Given the description of an element on the screen output the (x, y) to click on. 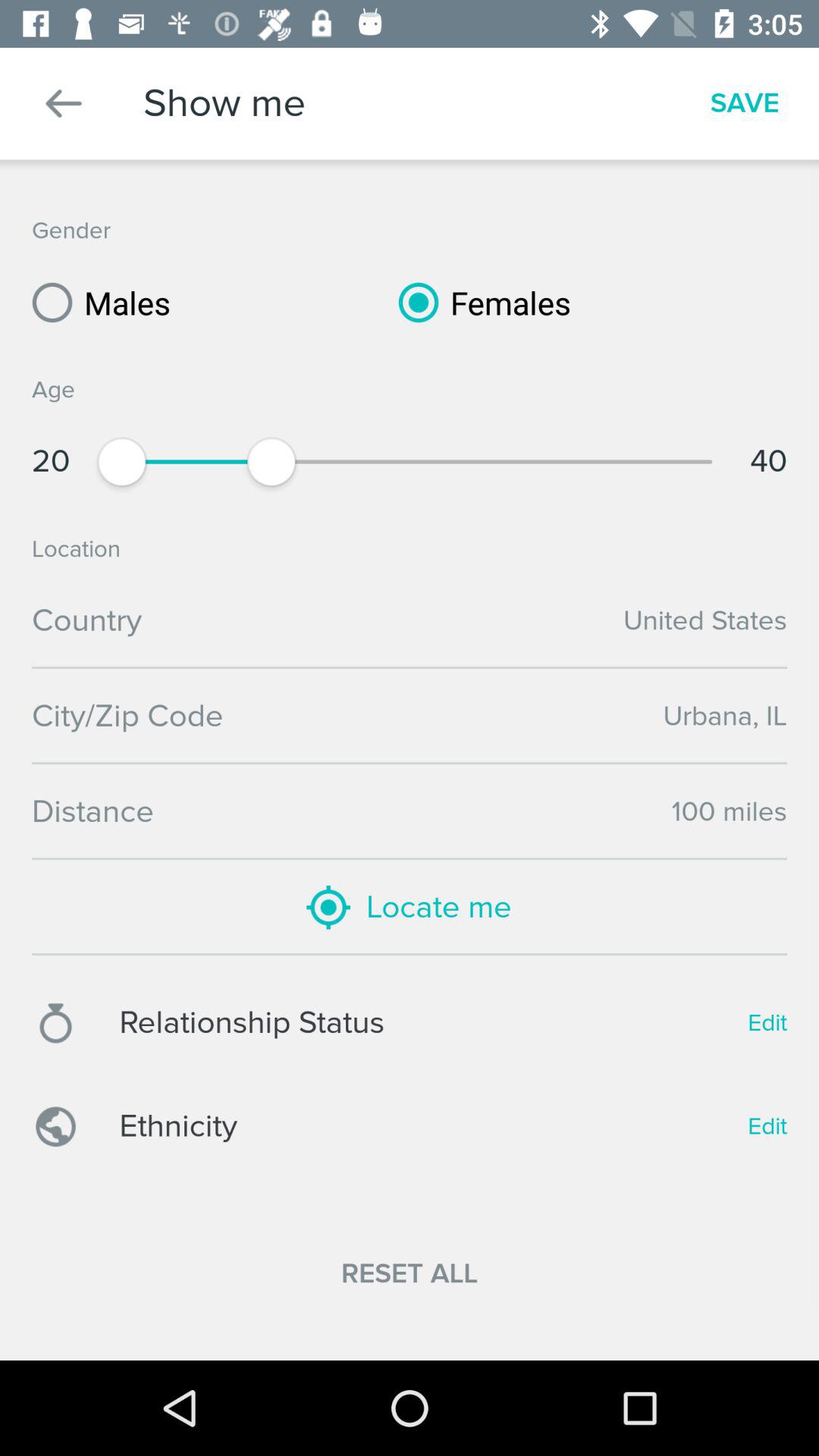
select the item to the left of the show me item (63, 103)
